Given the description of an element on the screen output the (x, y) to click on. 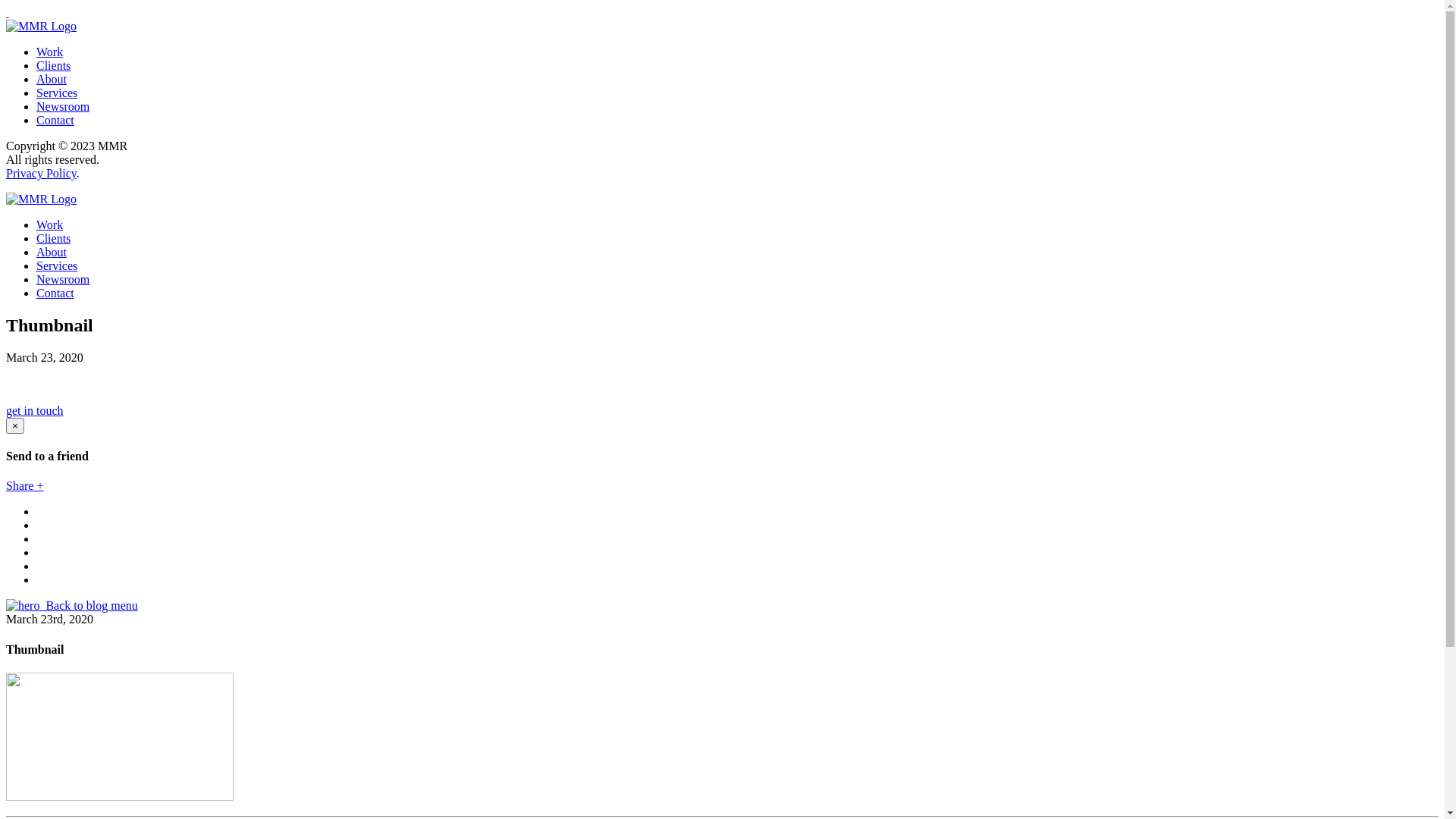
  Element type: text (7, 12)
Clients Element type: text (53, 65)
Work Element type: text (49, 51)
Clients Element type: text (53, 238)
get in touch Element type: text (34, 410)
Services Element type: text (56, 265)
About Element type: text (51, 78)
 Back to blog menu Element type: text (72, 605)
Work Element type: text (49, 224)
Privacy Policy Element type: text (41, 172)
Newsroom Element type: text (62, 279)
About Element type: text (51, 251)
Services Element type: text (56, 92)
Contact Element type: text (55, 119)
Contact Element type: text (55, 292)
Share + Element type: text (24, 485)
Newsroom Element type: text (62, 106)
